Given the description of an element on the screen output the (x, y) to click on. 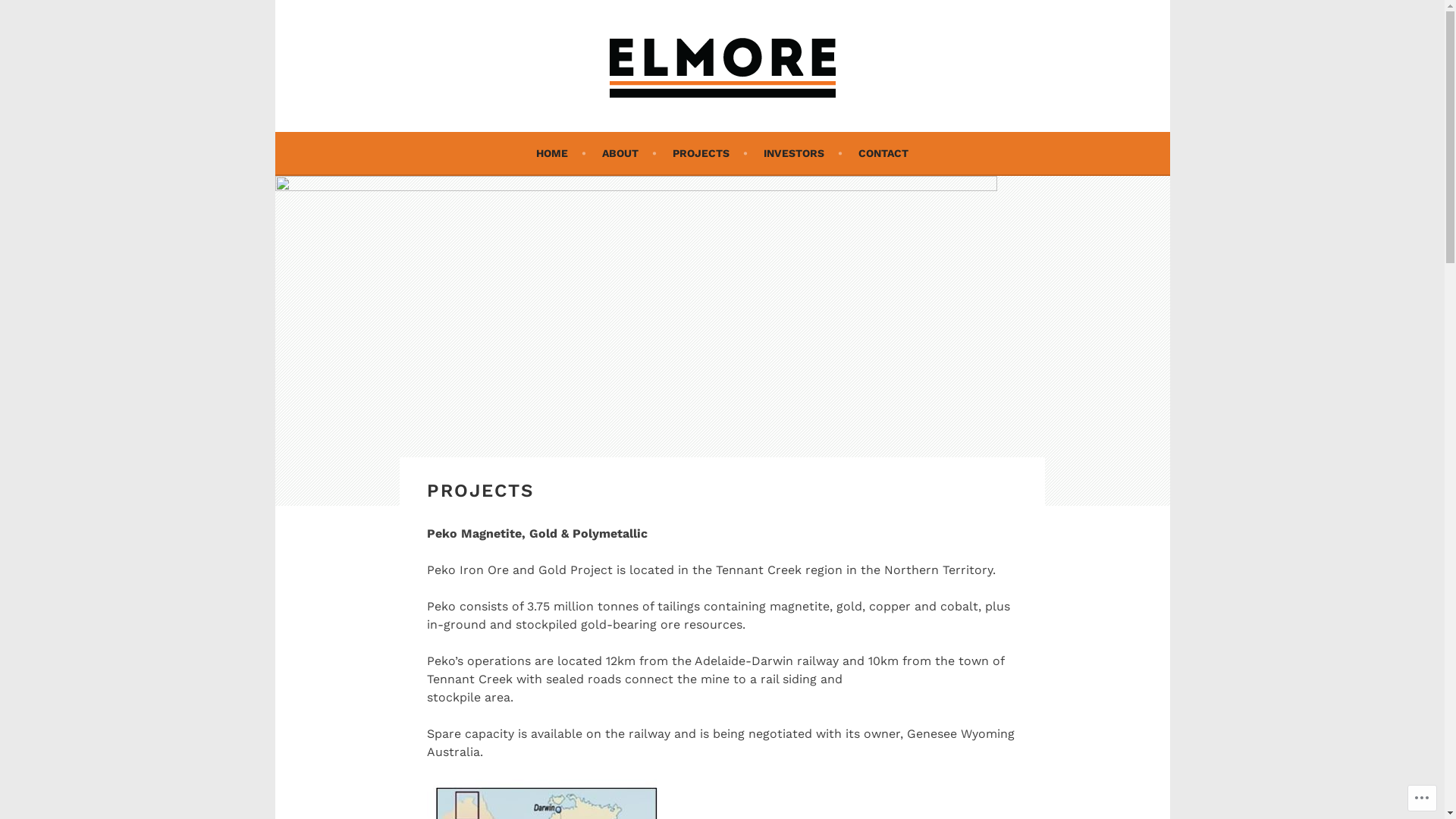
ELMORE LTD Element type: text (410, 140)
INVESTORS Element type: text (802, 153)
ABOUT Element type: text (629, 153)
HOME Element type: text (561, 153)
PROJECTS Element type: text (709, 153)
CONTACT Element type: text (883, 153)
